Given the description of an element on the screen output the (x, y) to click on. 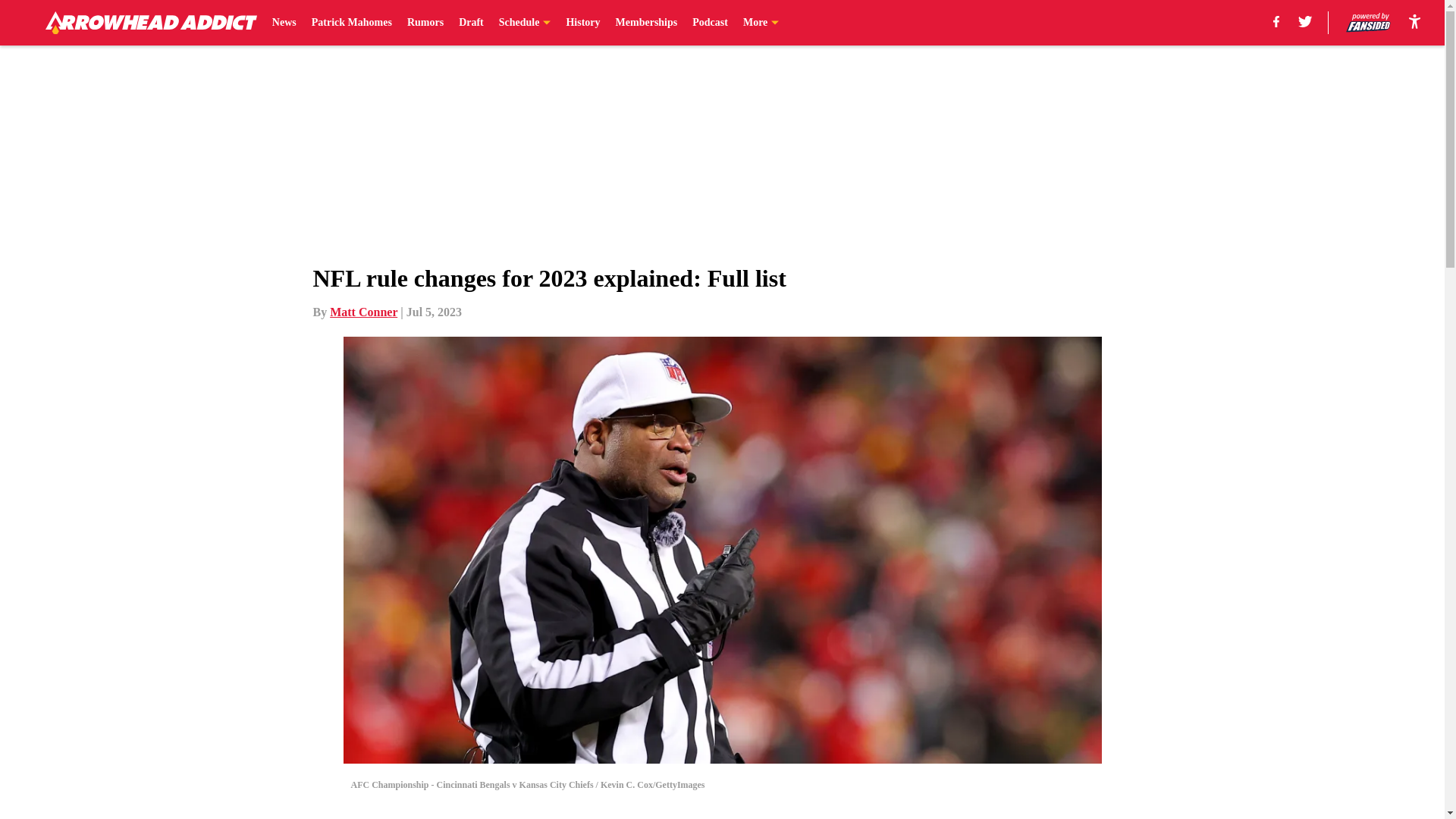
Memberships (646, 22)
Draft (470, 22)
Podcast (710, 22)
News (284, 22)
History (582, 22)
Rumors (425, 22)
Matt Conner (363, 311)
Patrick Mahomes (351, 22)
